Given the description of an element on the screen output the (x, y) to click on. 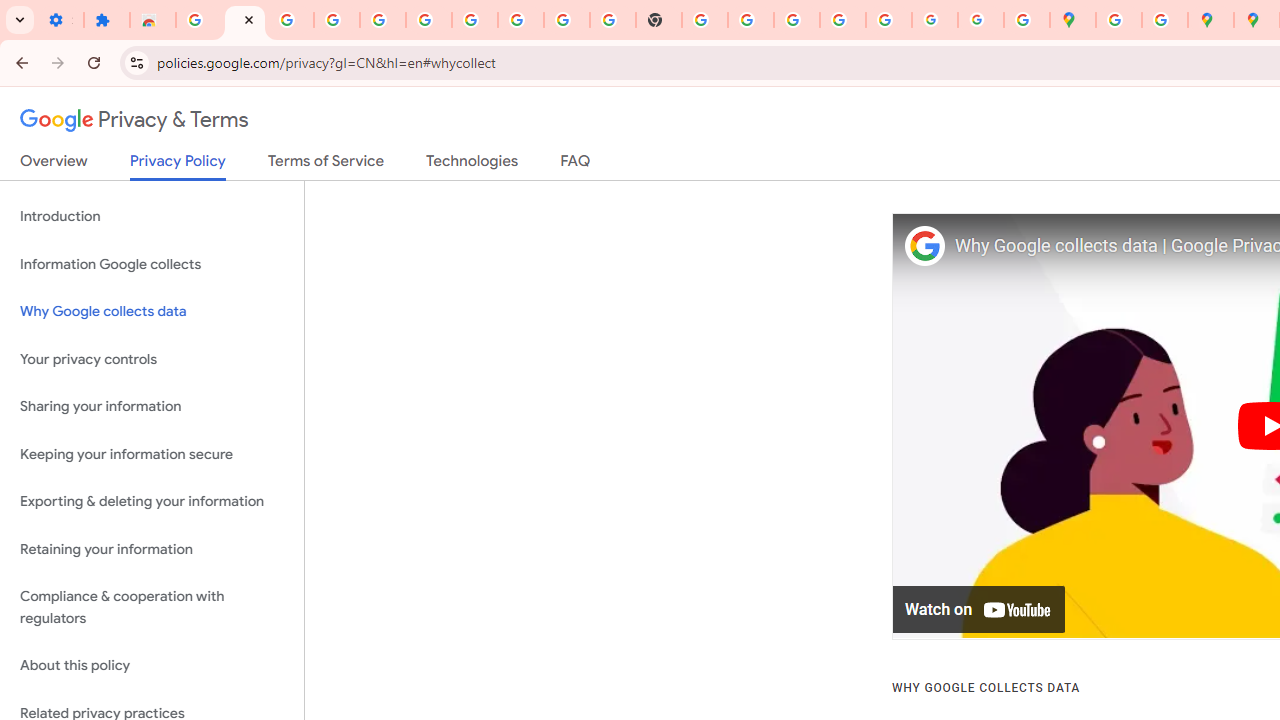
Why Google collects data (152, 312)
Google Maps (1072, 20)
Google Account (520, 20)
Compliance & cooperation with regulators (152, 607)
Watch on YouTube (979, 610)
Learn how to find your photos - Google Photos Help (336, 20)
Exporting & deleting your information (152, 502)
